Given the description of an element on the screen output the (x, y) to click on. 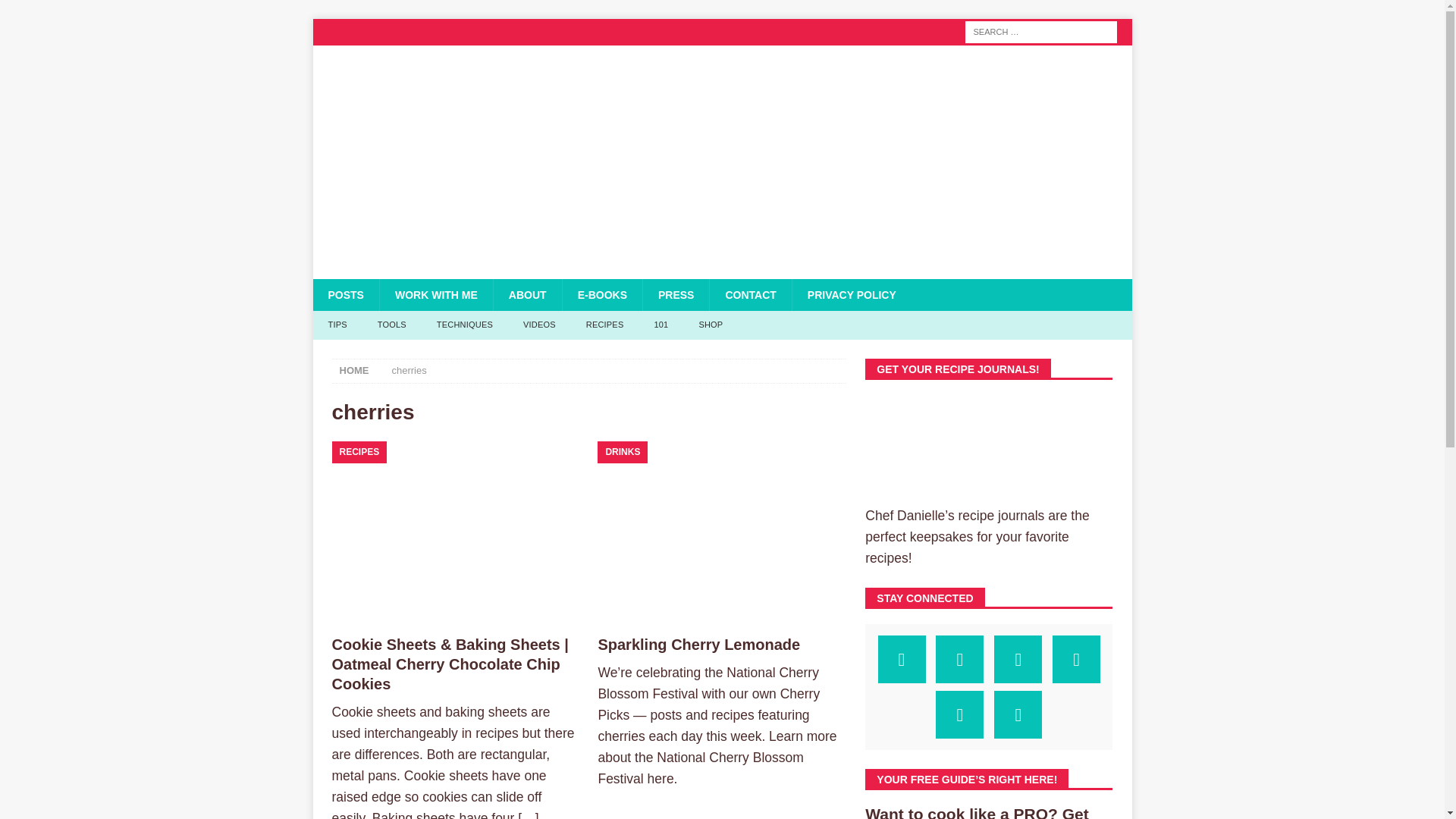
WORK WITH ME (435, 295)
Sparkling Cherry Lemonade (720, 534)
Search (56, 11)
VIDEOS (539, 325)
Sparkling Cherry Lemonade (697, 644)
E-BOOKS (602, 295)
ABOUT (527, 295)
TIPS (337, 325)
TOOLS (392, 325)
HOME (354, 369)
SHOP (710, 325)
101 (660, 325)
Cooking Clarified (703, 270)
RECIPES (604, 325)
TECHNIQUES (465, 325)
